Given the description of an element on the screen output the (x, y) to click on. 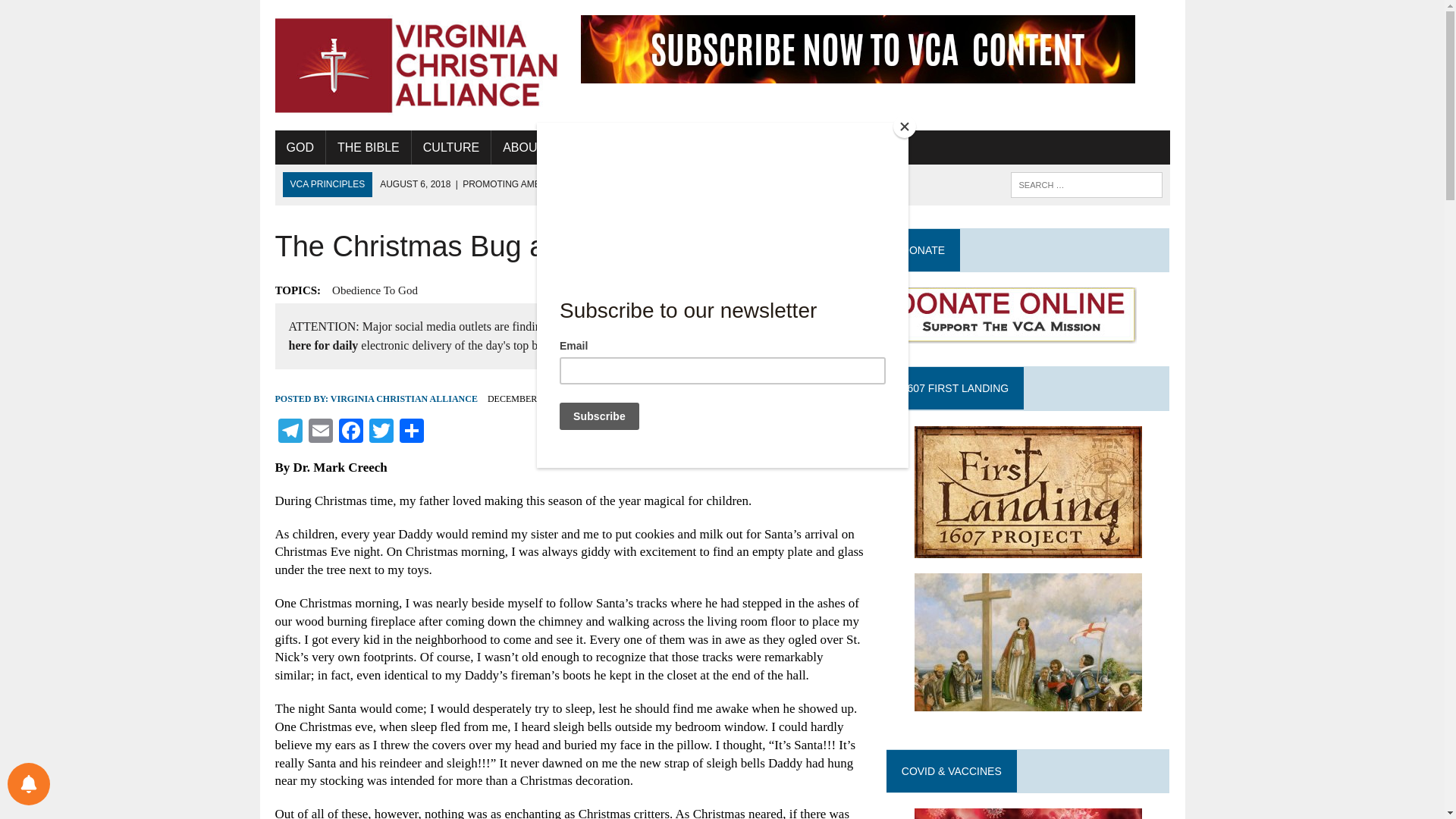
Twitter (380, 432)
MISSION STATEMENT (670, 147)
Facebook (349, 432)
GOD (299, 147)
THE BIBLE (368, 147)
Virginia Christian Alliance (416, 65)
ABOUT ISLAM (543, 147)
CULTURE (451, 147)
Telegram (289, 432)
Email (319, 432)
